Given the description of an element on the screen output the (x, y) to click on. 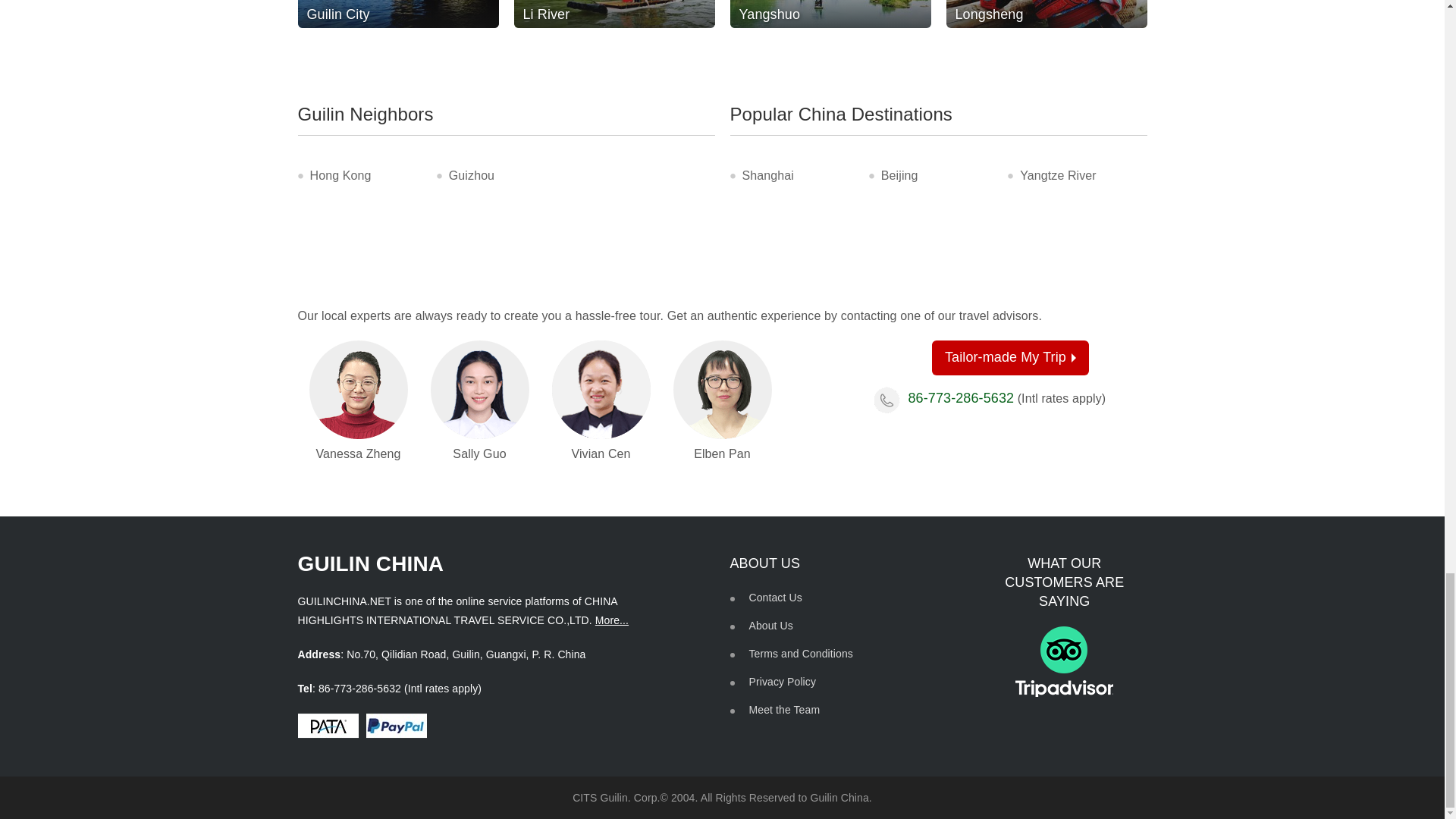
Shanghai (767, 174)
Yangtze River (1058, 174)
Guilin City (397, 13)
Vanessa Zheng (357, 389)
More... (611, 620)
Beijing (899, 174)
Privacy Policy (782, 681)
Sally Guo (479, 389)
Longsheng (1046, 13)
Guizhou (471, 174)
Tailor-made My Trip (1010, 357)
Yangshuo (829, 13)
Terms and Conditions (801, 653)
Li River (613, 13)
About Us (771, 625)
